Given the description of an element on the screen output the (x, y) to click on. 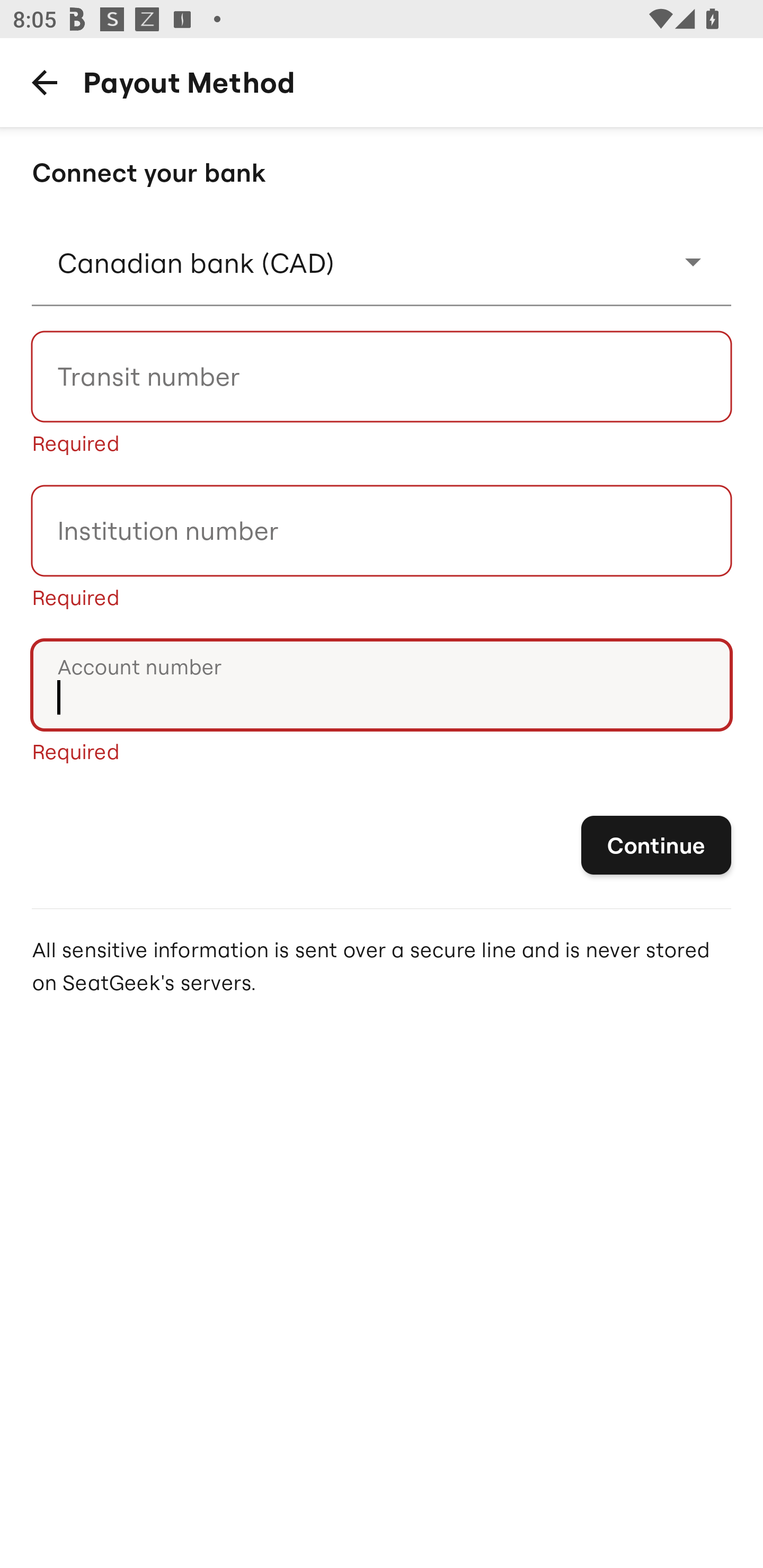
Back (44, 81)
Dropdown menu Canadian bank (CAD) (381, 261)
Transit number (381, 375)
Institution number (381, 530)
Account number (381, 684)
Continue (655, 845)
